Given the description of an element on the screen output the (x, y) to click on. 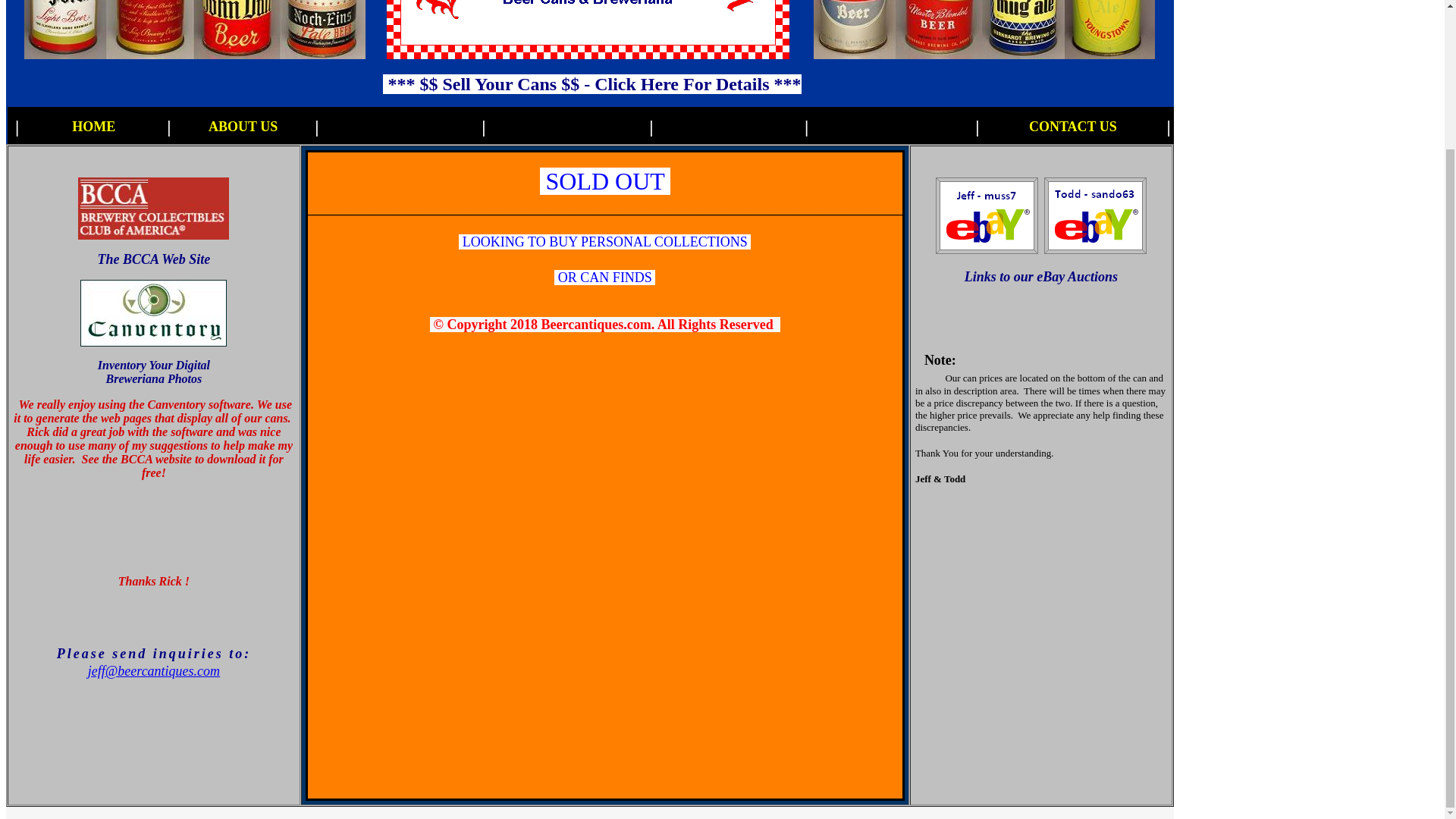
ABOUT US (243, 125)
CONTACT US (1072, 125)
HOME (93, 125)
